Given the description of an element on the screen output the (x, y) to click on. 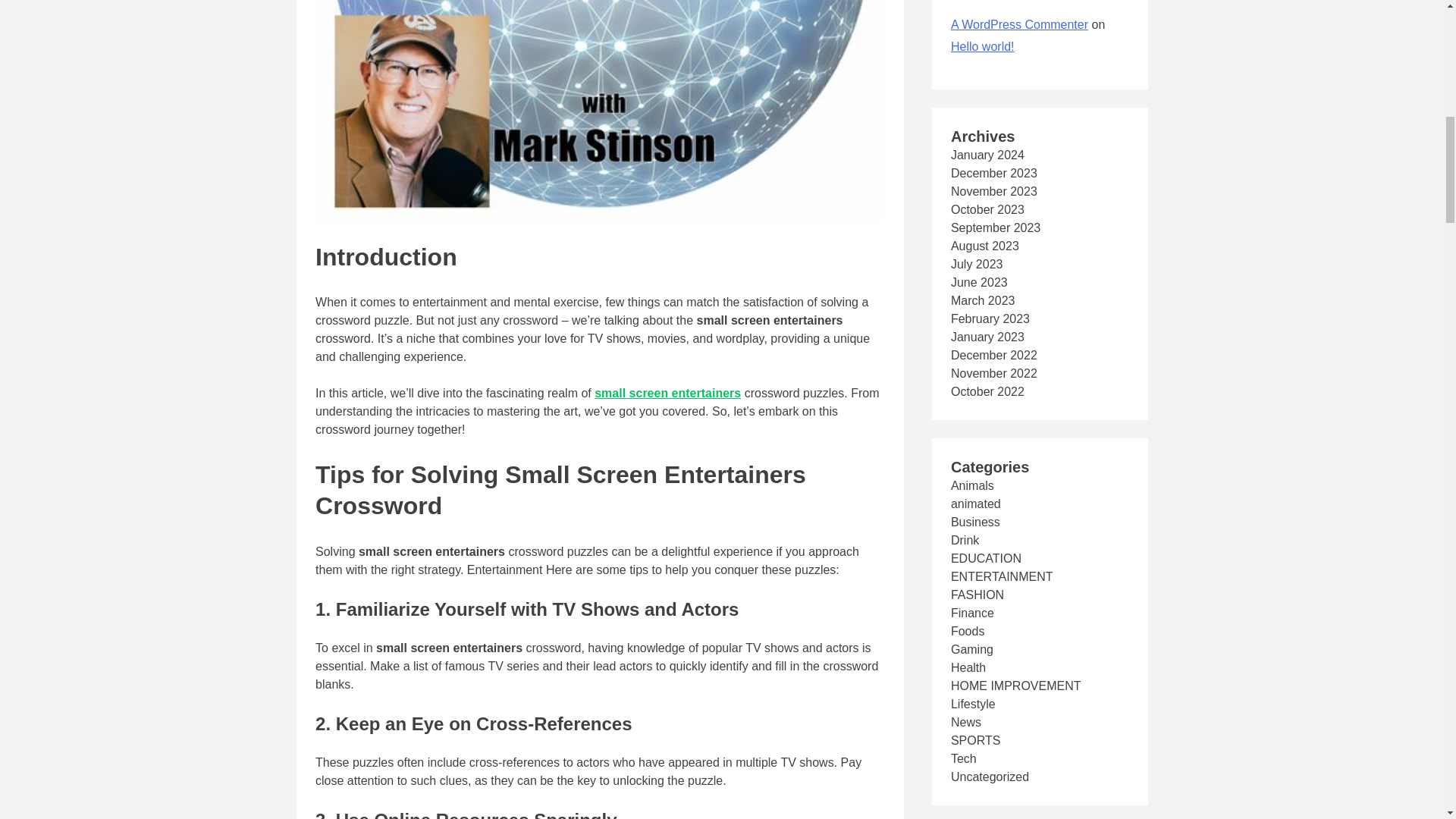
small screen entertainers (667, 392)
